Given the description of an element on the screen output the (x, y) to click on. 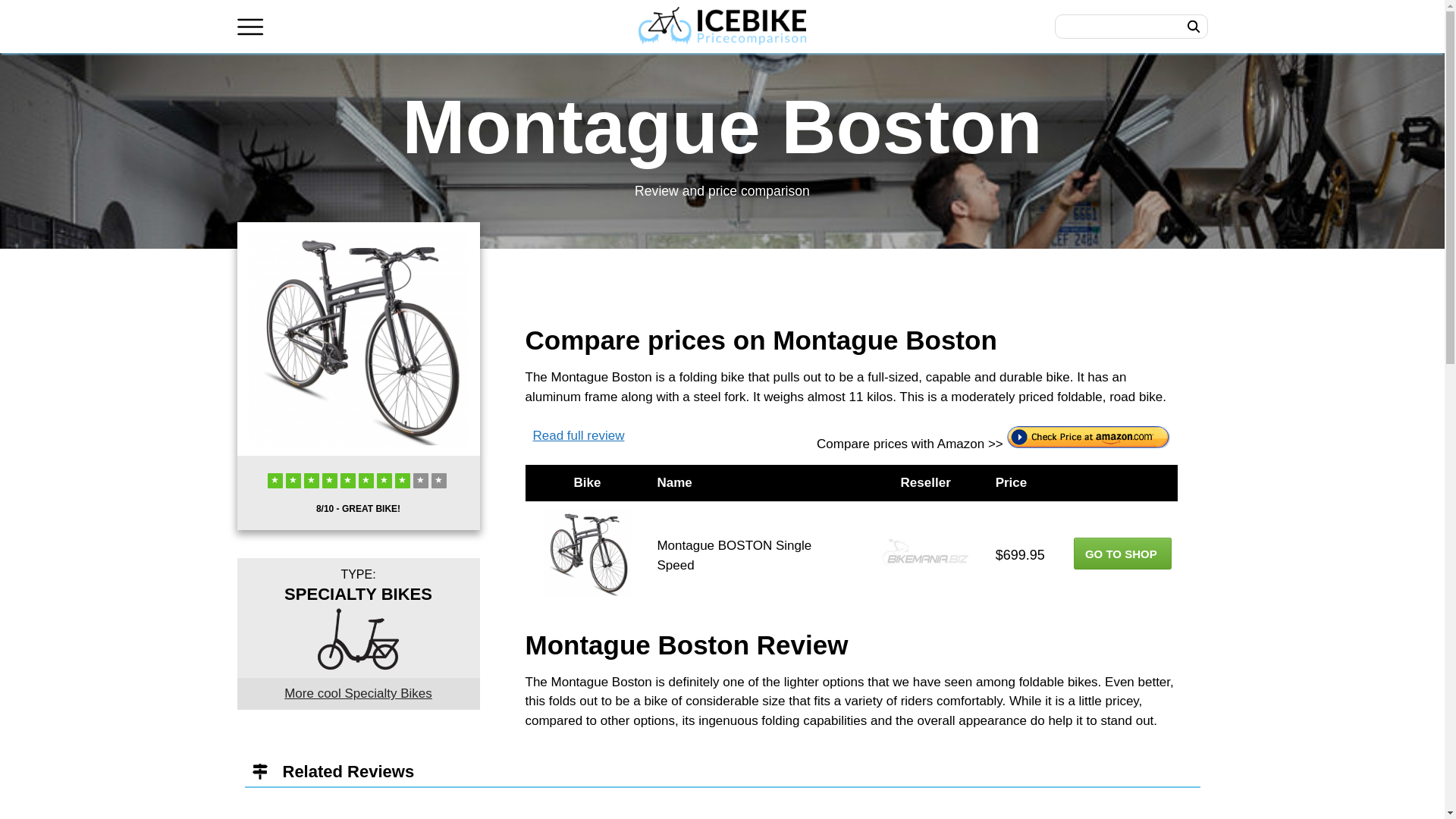
BikeMania.Biz (925, 552)
Icebike.org (722, 25)
GO (1193, 26)
Icebike.org (722, 26)
